Given the description of an element on the screen output the (x, y) to click on. 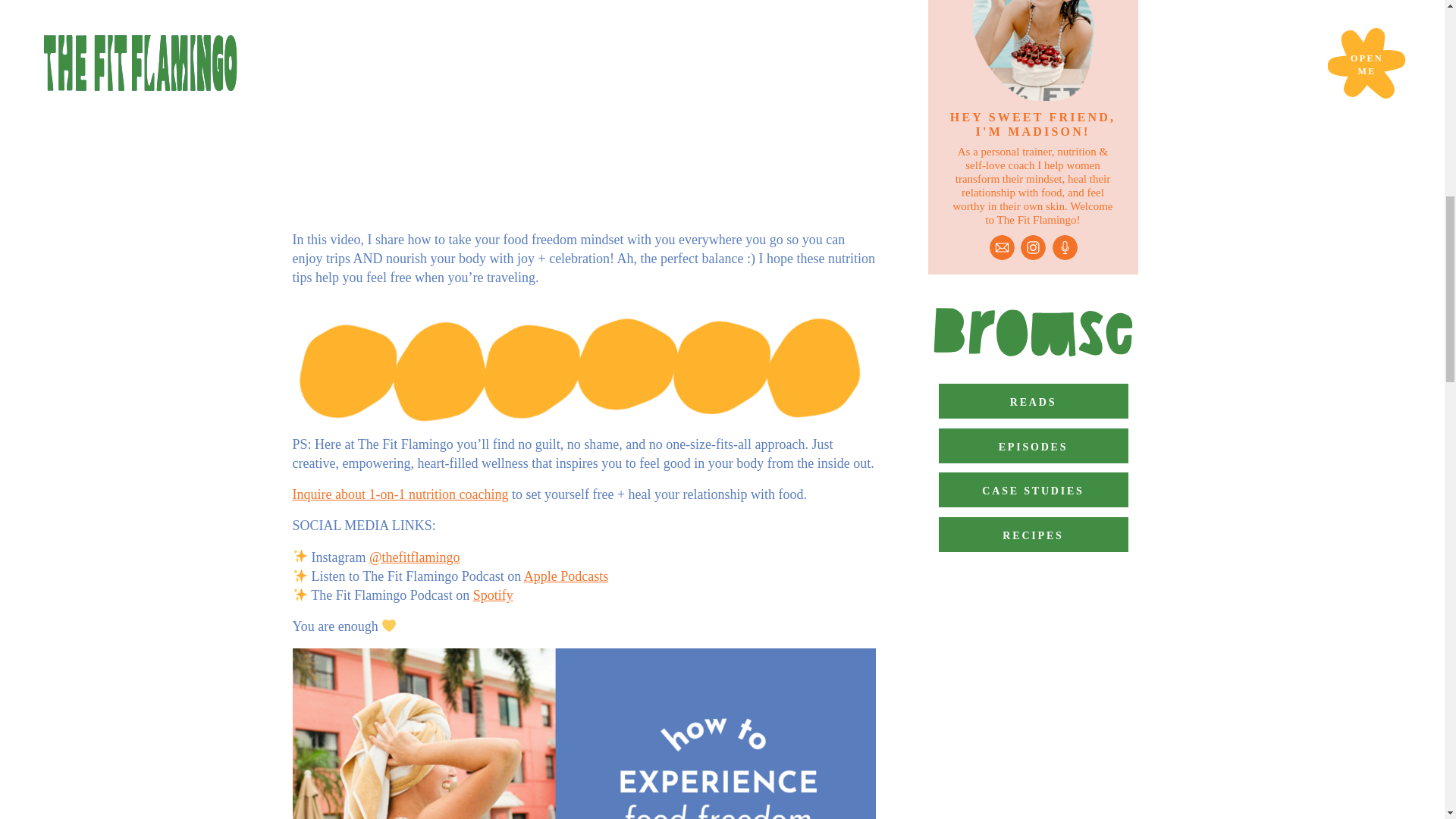
CASE STUDIES (1033, 490)
Inquire about 1-on-1 nutrition coaching (400, 494)
Spotify (493, 595)
Apple Podcasts (566, 575)
EPISODES (1033, 445)
How to Experience Food Freedom While Traveling (584, 109)
READS (1033, 400)
RECIPES (1033, 534)
